Given the description of an element on the screen output the (x, y) to click on. 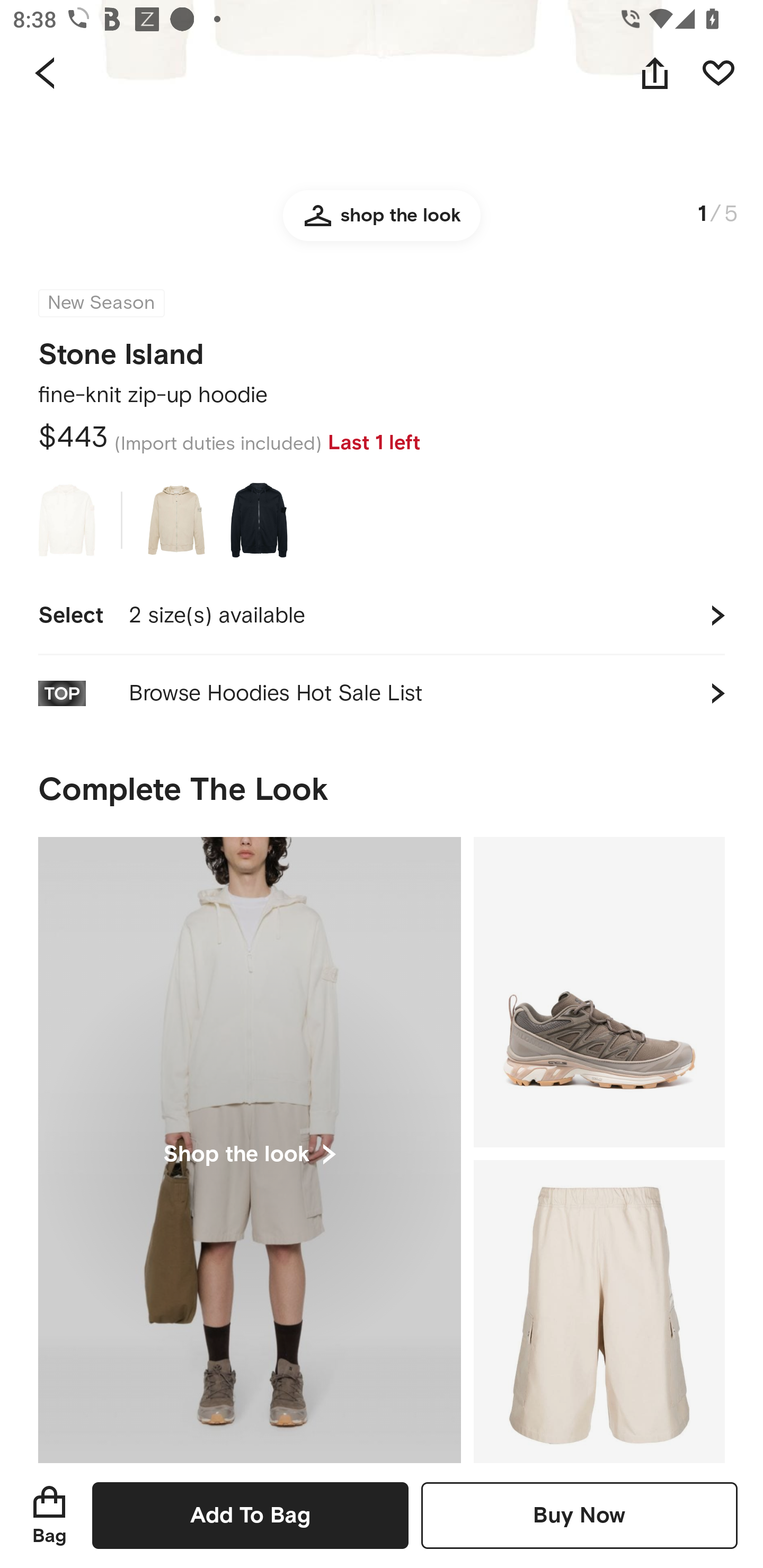
shop the look (381, 231)
Stone Island (120, 348)
Select 2 size(s) available (381, 615)
Browse Hoodies Hot Sale List (381, 693)
Bag (49, 1515)
Add To Bag (250, 1515)
Buy Now (579, 1515)
